Given the description of an element on the screen output the (x, y) to click on. 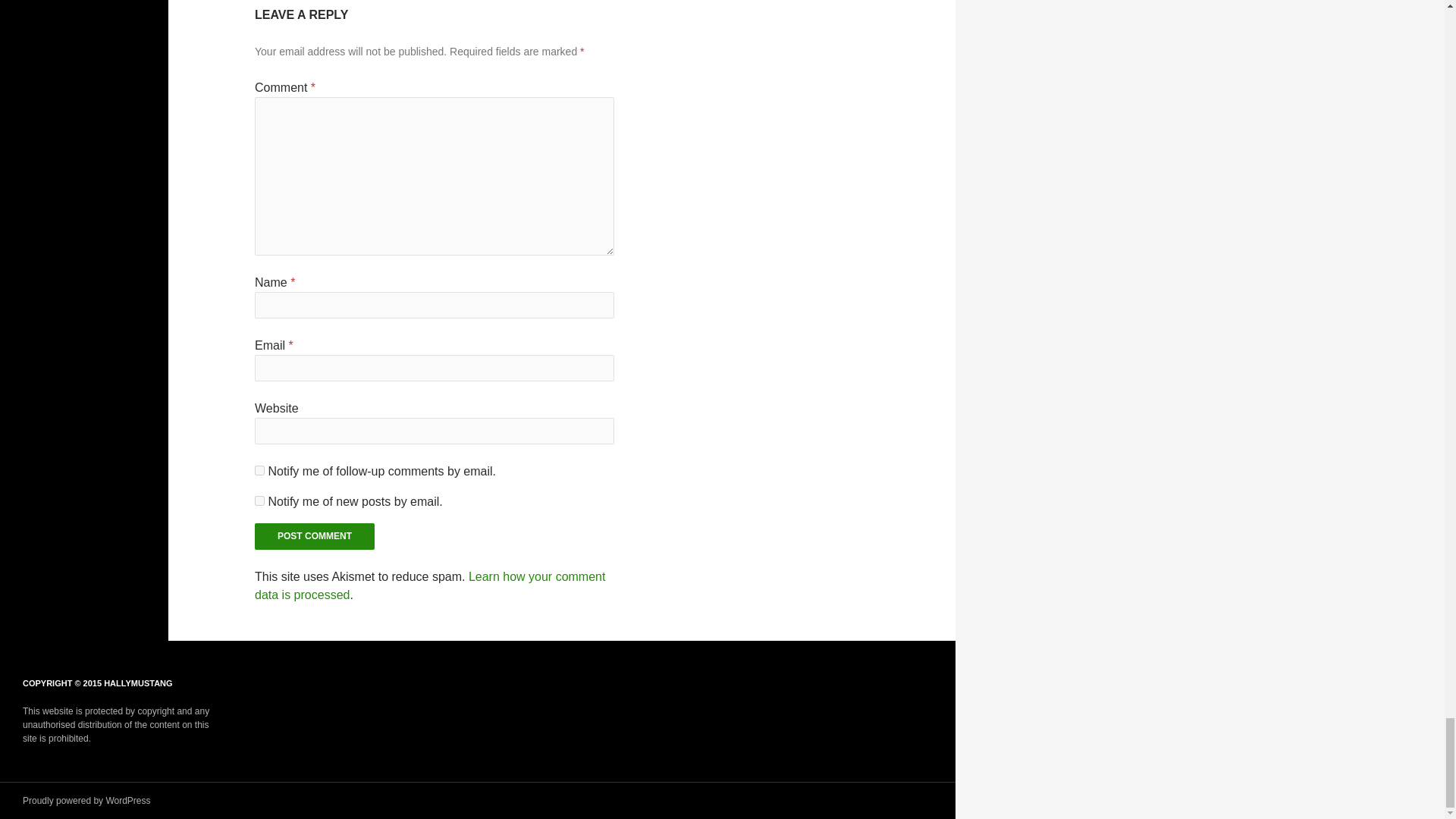
subscribe (259, 501)
subscribe (259, 470)
Post Comment (314, 536)
